Given the description of an element on the screen output the (x, y) to click on. 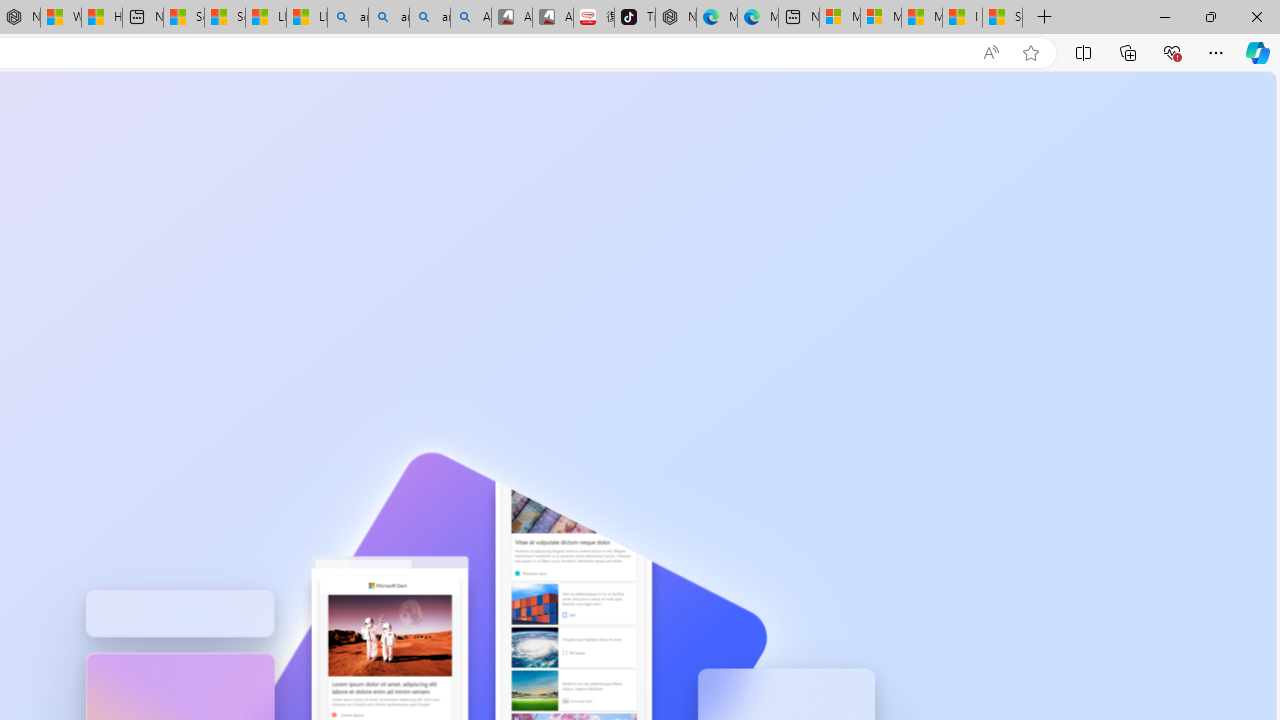
I Gained 20 Pounds of Muscle in 30 Days! | Watch (962, 17)
